Given the description of an element on the screen output the (x, y) to click on. 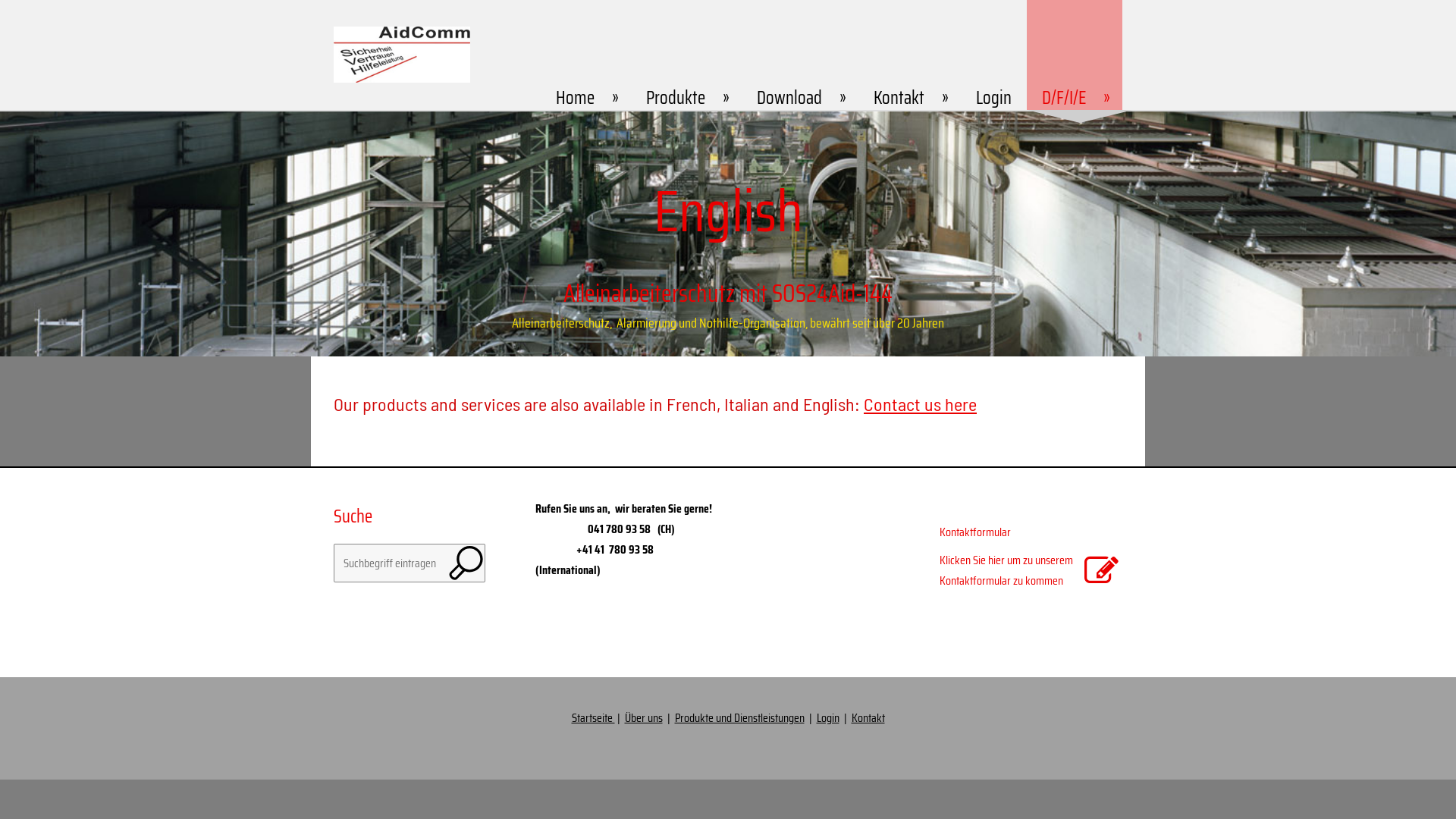
Contact us here Element type: text (919, 403)
Kontakt Element type: text (909, 54)
Home Element type: text (585, 54)
D/F/I/E Element type: text (1074, 54)
Download Element type: text (799, 54)
Produkte Element type: text (685, 54)
Kontakt Element type: text (867, 717)
Startseite  Element type: text (593, 717)
Login Element type: text (826, 717)
Login Element type: text (993, 54)
Produkte und Dienstleistungen Element type: text (739, 717)
